Given the description of an element on the screen output the (x, y) to click on. 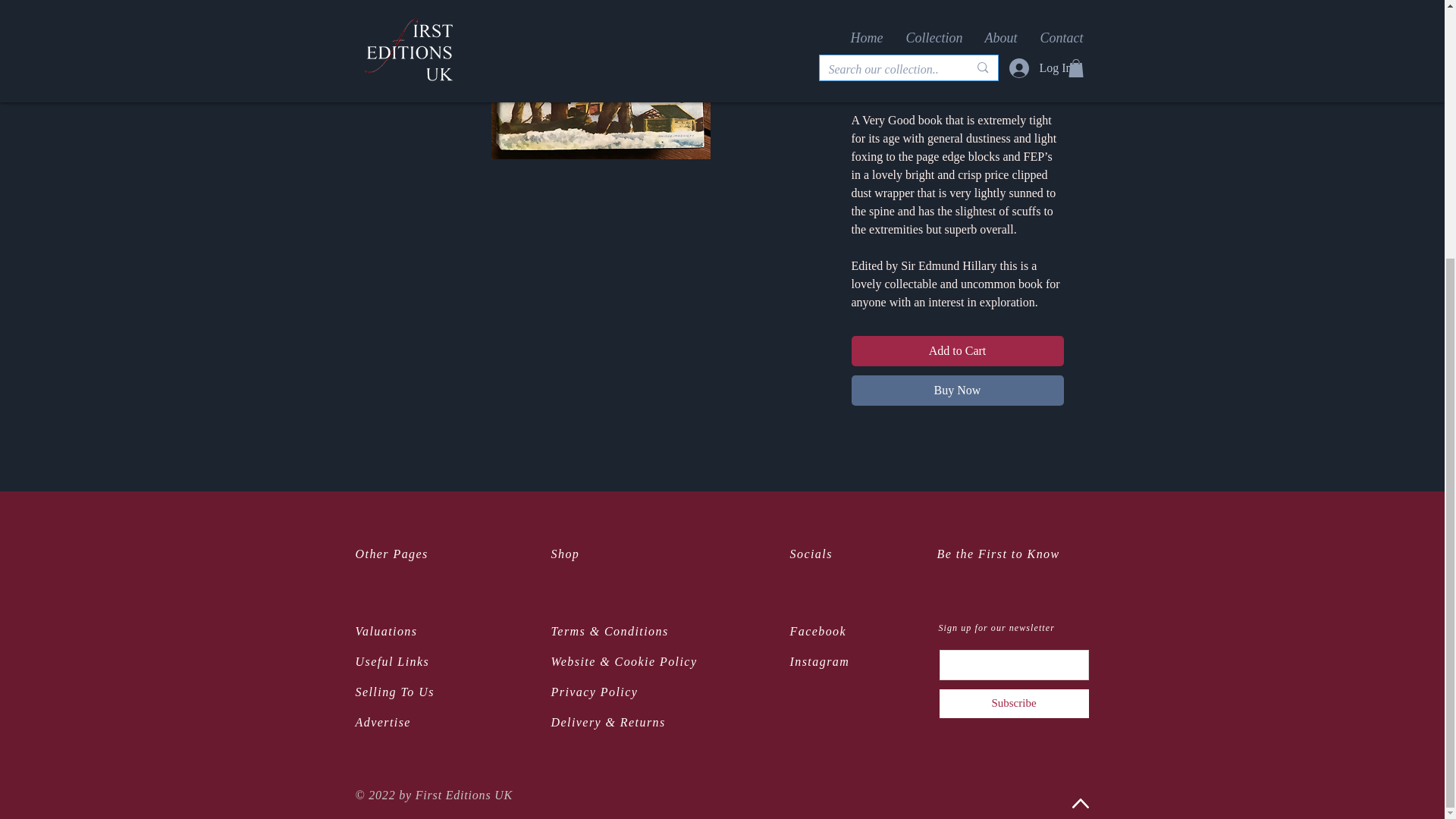
Valuations (385, 631)
Advertise (382, 721)
Instagram (820, 661)
Useful Links (392, 661)
Subscribe (1013, 703)
Privacy Policy (593, 691)
Selling To Us (394, 691)
Facebook (818, 631)
Buy Now (956, 390)
Add to Cart (956, 350)
